Given the description of an element on the screen output the (x, y) to click on. 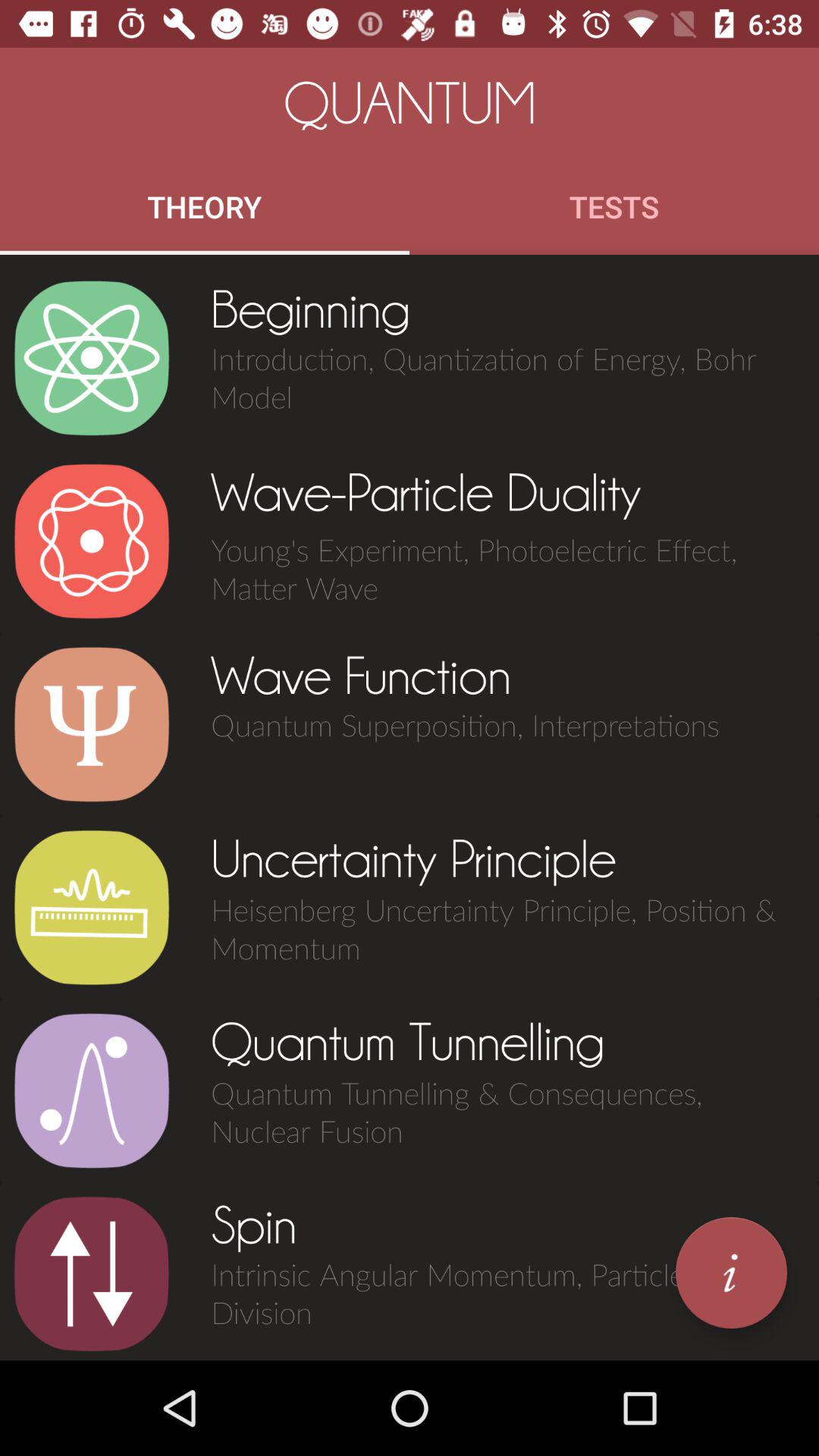
tap the item next to the spin item (91, 1273)
